Given the description of an element on the screen output the (x, y) to click on. 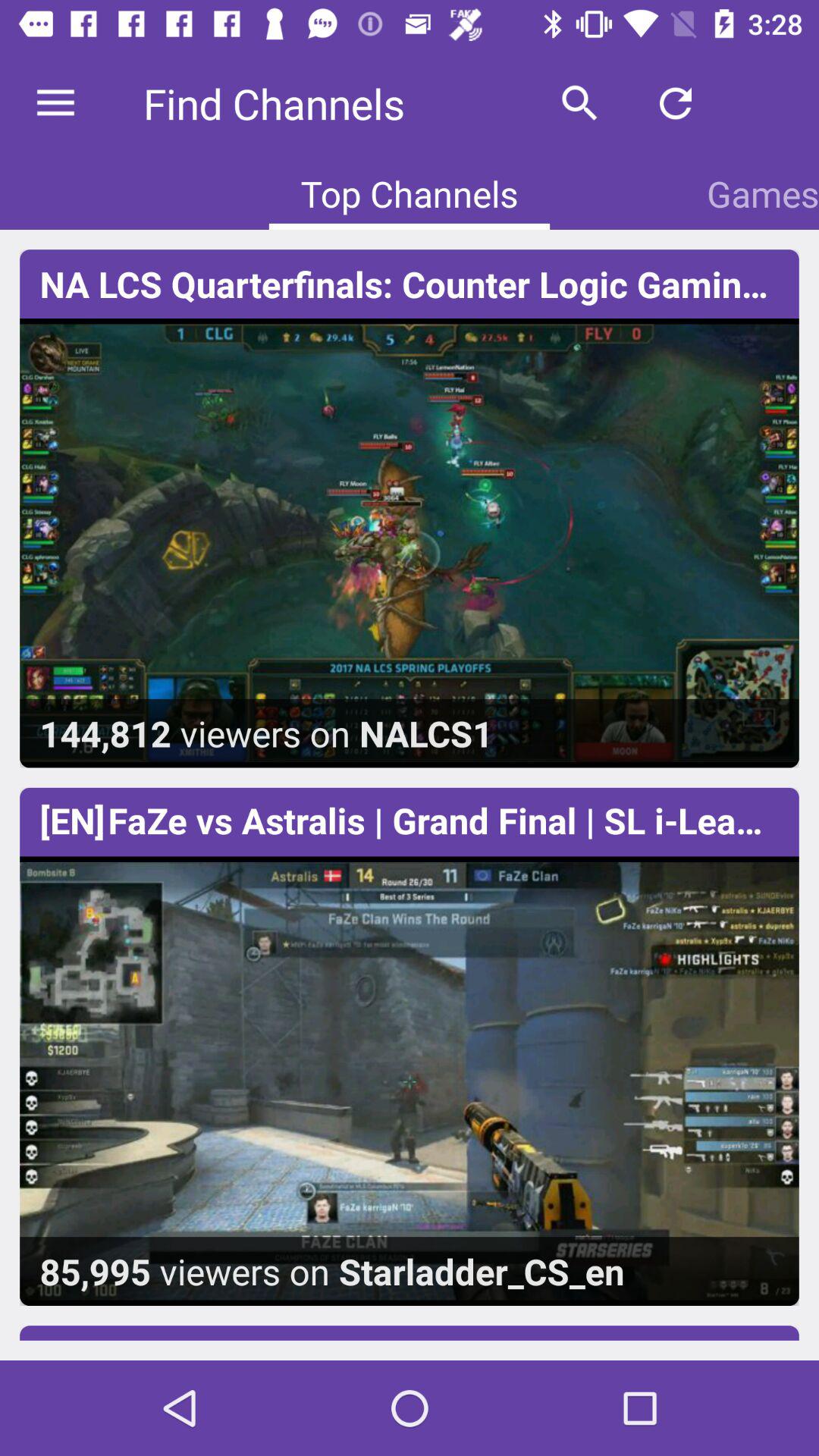
open the icon to the right of find channels (579, 103)
